Given the description of an element on the screen output the (x, y) to click on. 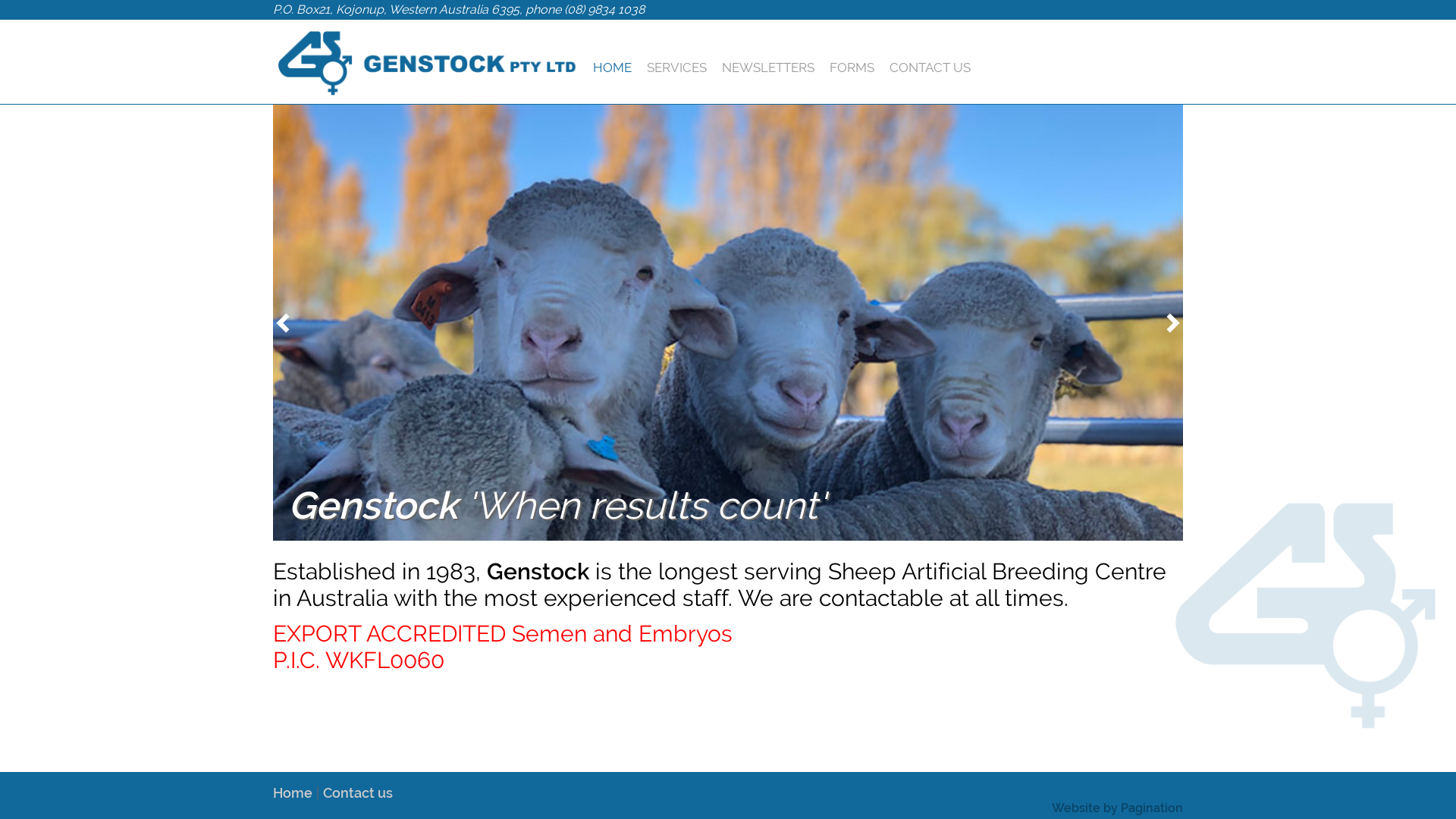
Contact us Element type: text (357, 792)
Home Element type: text (292, 792)
10_POLL_MERINOS.JPG Element type: hover (728, 322)
Website by Pagination Element type: text (1117, 807)
